Given the description of an element on the screen output the (x, y) to click on. 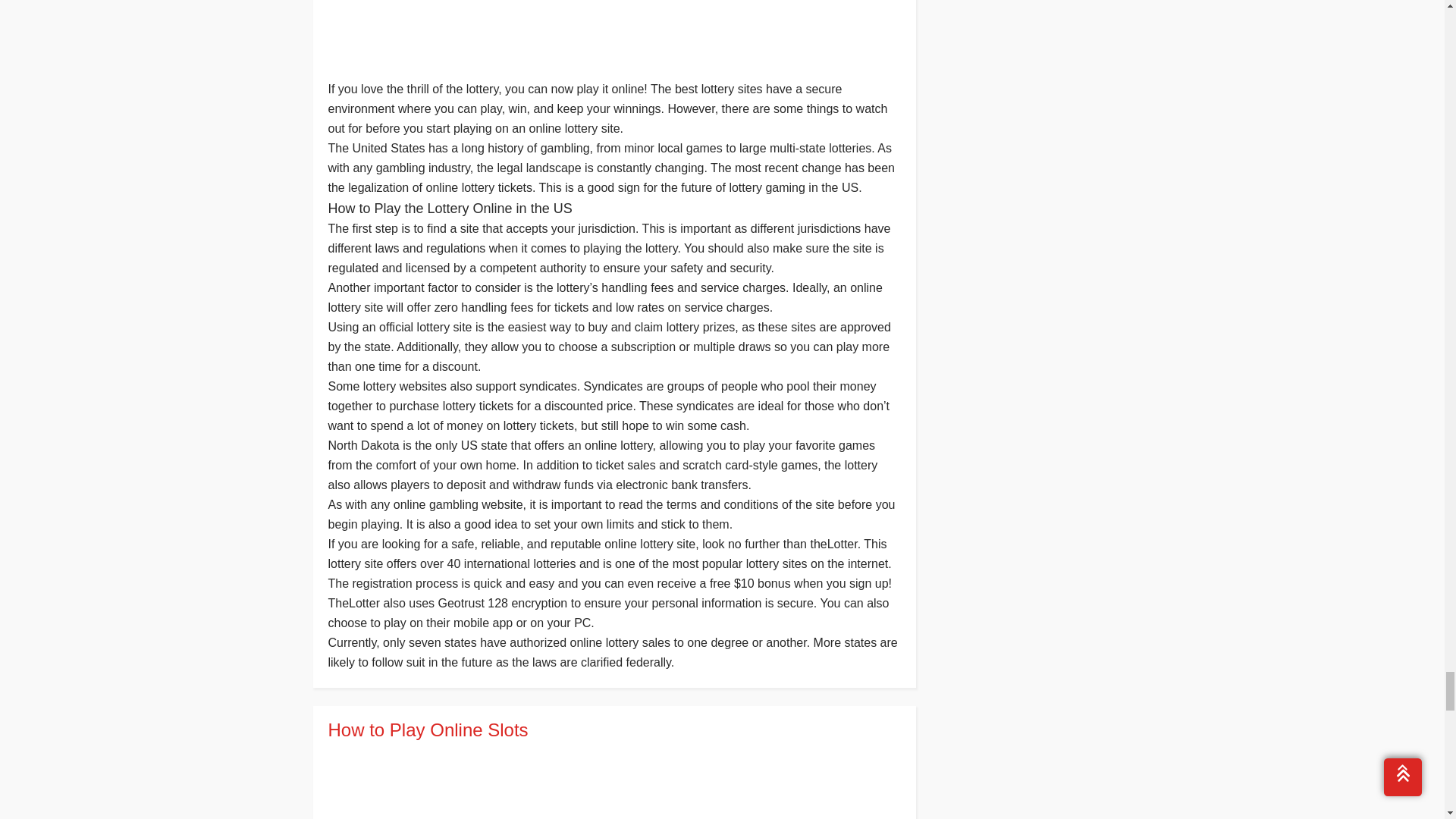
How to Play Online Slots (613, 730)
